Given the description of an element on the screen output the (x, y) to click on. 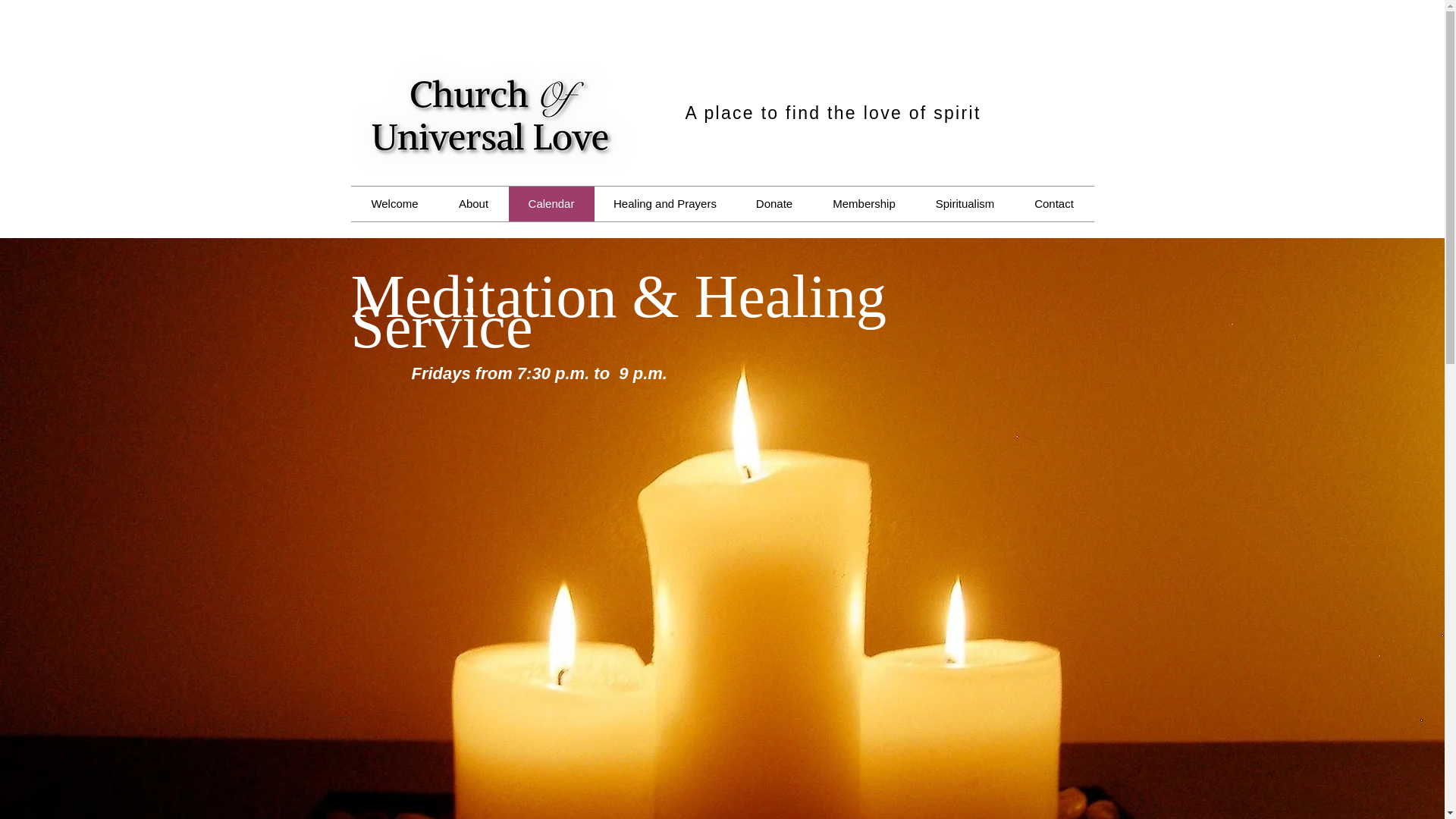
Contact (1054, 203)
Healing and Prayers (665, 203)
Calendar (551, 203)
Donate (773, 203)
Membership (863, 203)
About (473, 203)
Spiritualism (964, 203)
Welcome (394, 203)
